Given the description of an element on the screen output the (x, y) to click on. 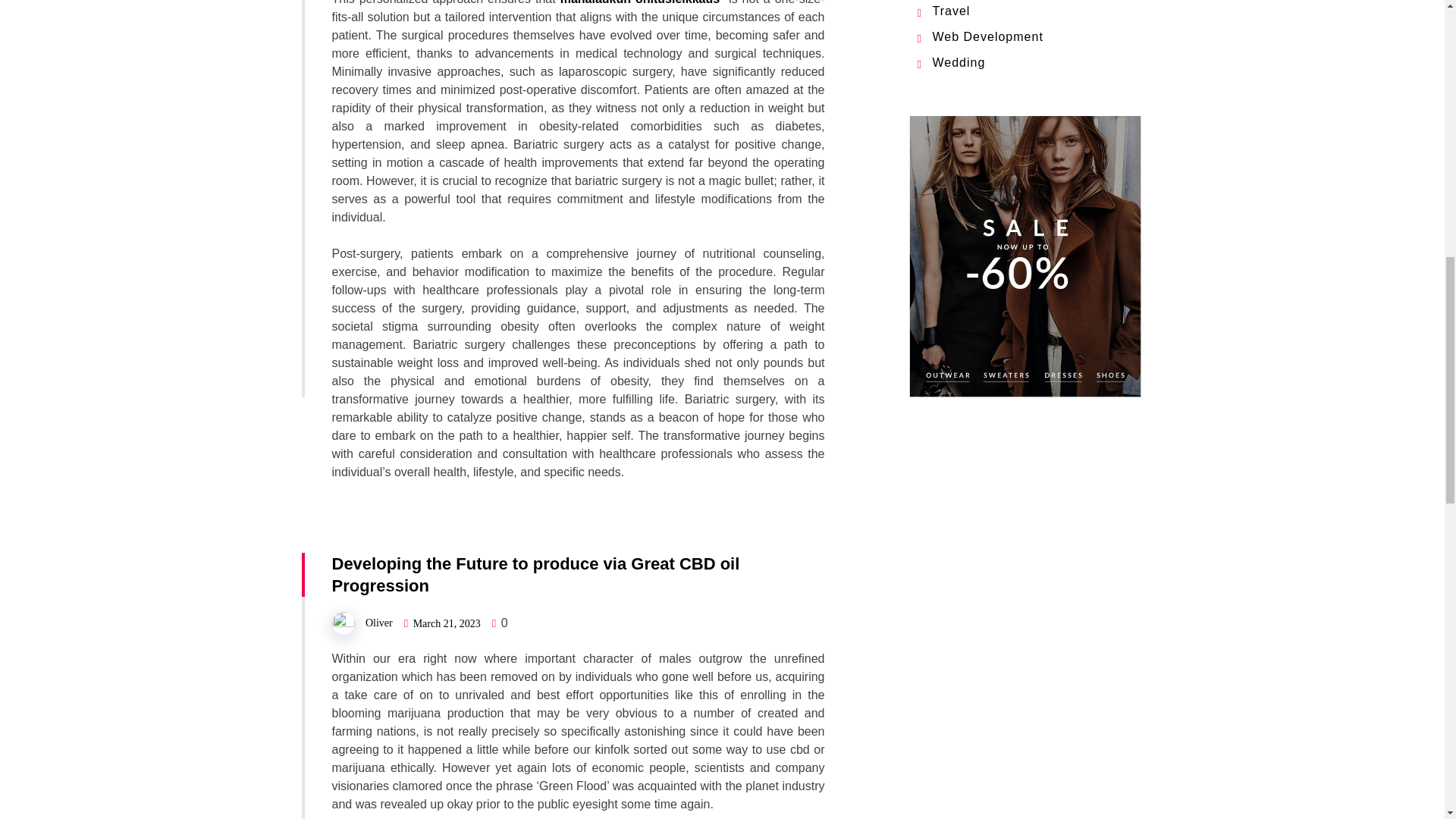
Travel (952, 10)
mahalaukun ohitusleikkaus (639, 2)
March 21, 2023 (446, 623)
Oliver (379, 622)
Web Development (988, 36)
Wedding (959, 62)
